Given the description of an element on the screen output the (x, y) to click on. 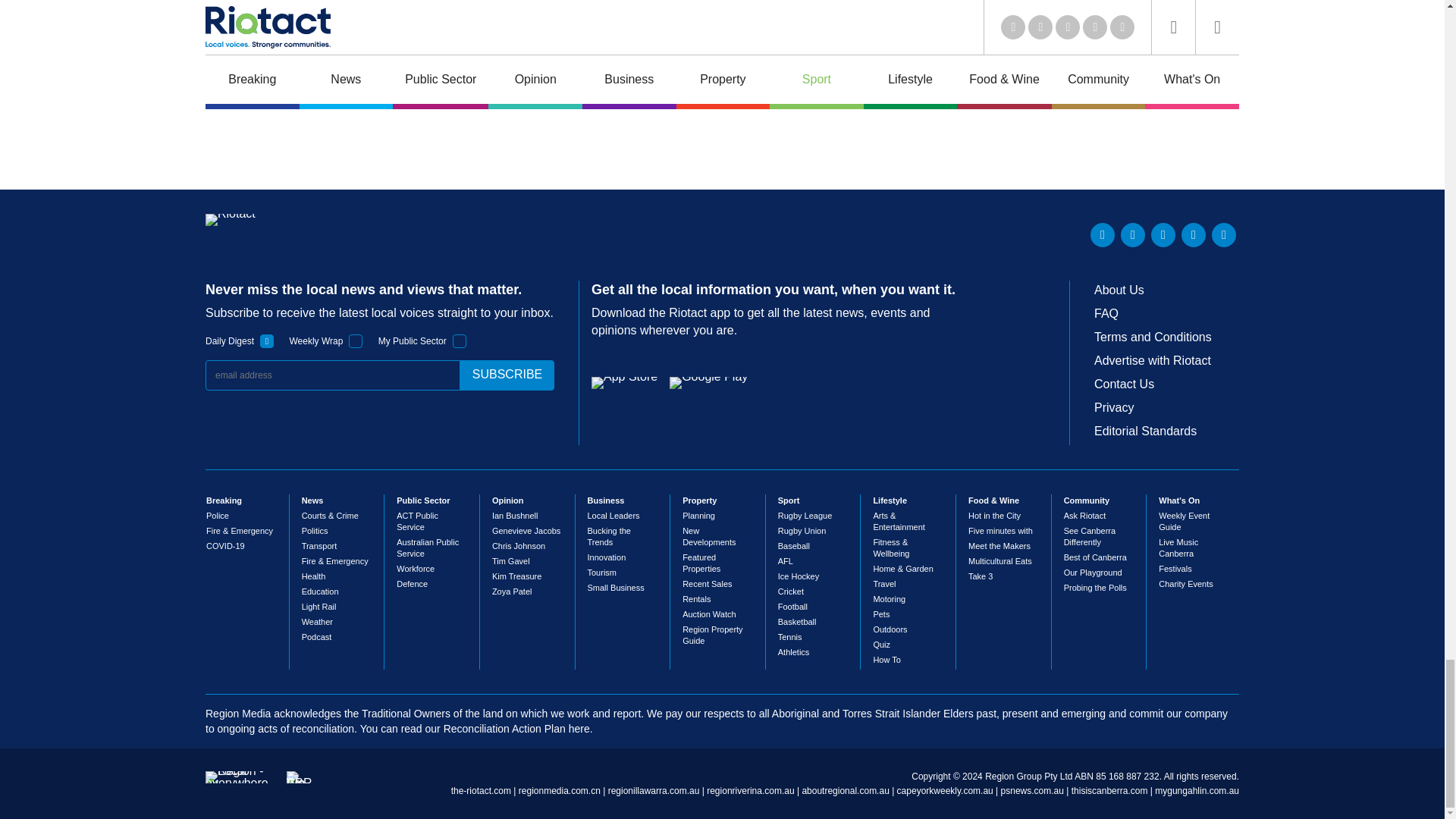
LinkedIn (1102, 234)
Twitter (1132, 234)
subscribe (507, 375)
Instagram (1223, 234)
App Store (624, 382)
1 (266, 341)
Facebook (1192, 234)
Youtube (1162, 234)
1 (355, 341)
1 (458, 341)
